Given the description of an element on the screen output the (x, y) to click on. 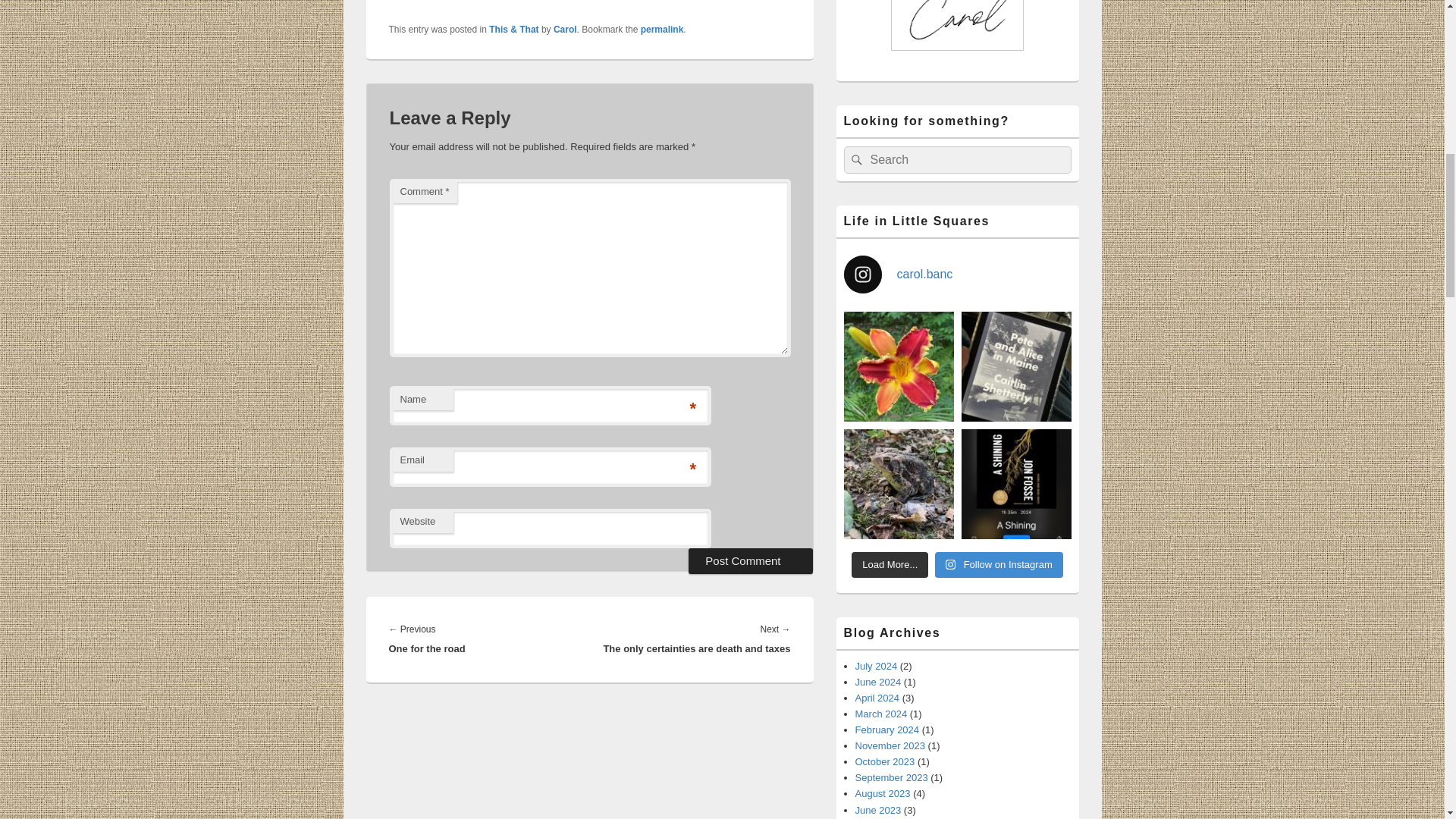
June 2024 (878, 681)
March 2024 (881, 713)
Carol (564, 29)
August 2023 (883, 793)
September 2023 (892, 777)
February 2024 (888, 729)
Follow on Instagram (998, 565)
Search (854, 159)
Load More... (889, 565)
Permalink to So much to do, so little time (662, 29)
permalink (662, 29)
carol.banc (956, 274)
June 2023 (878, 809)
October 2023 (885, 761)
November 2023 (891, 745)
